Given the description of an element on the screen output the (x, y) to click on. 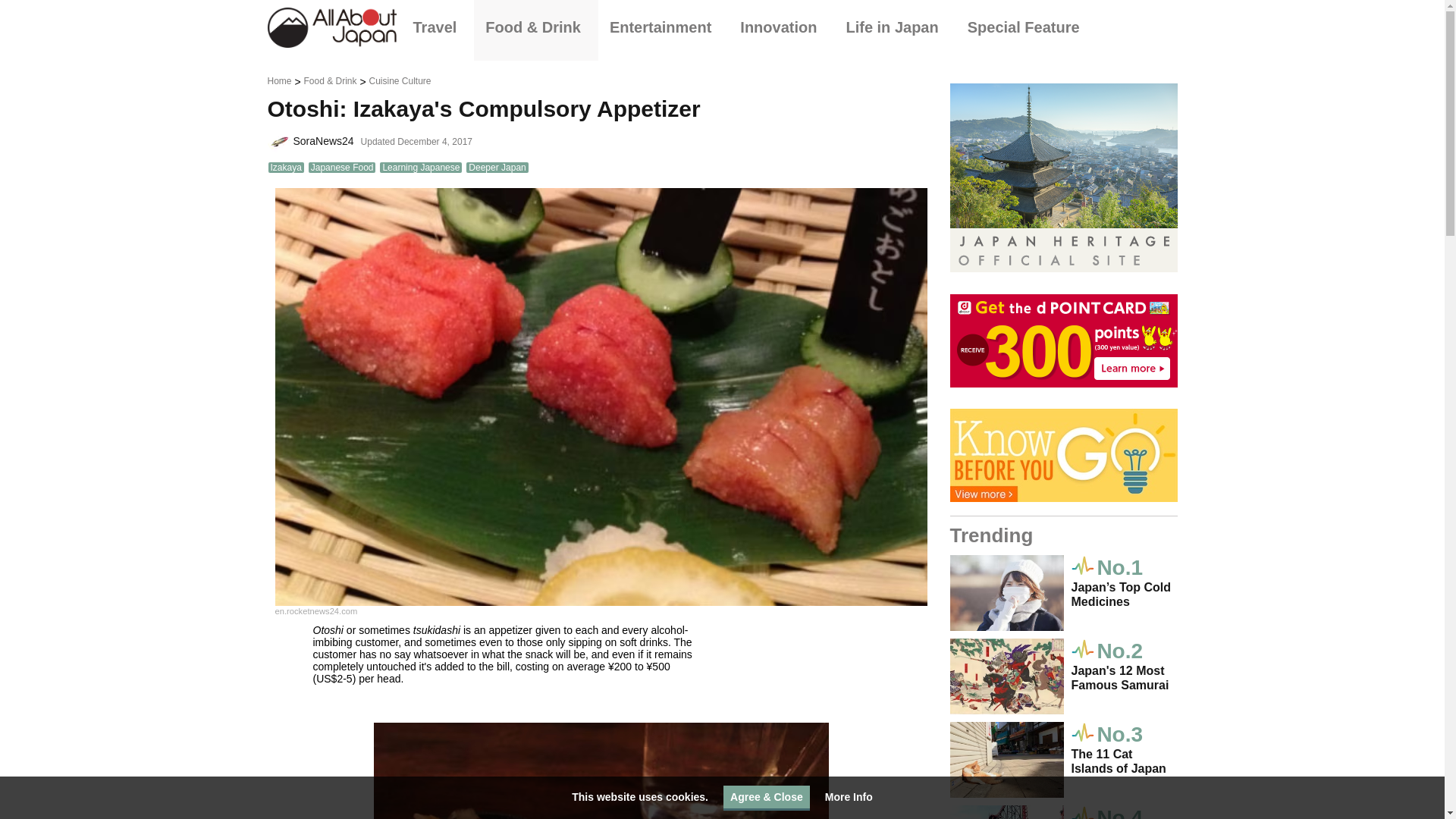
Innovation (781, 27)
Travel (437, 27)
Entertainment (663, 27)
